Given the description of an element on the screen output the (x, y) to click on. 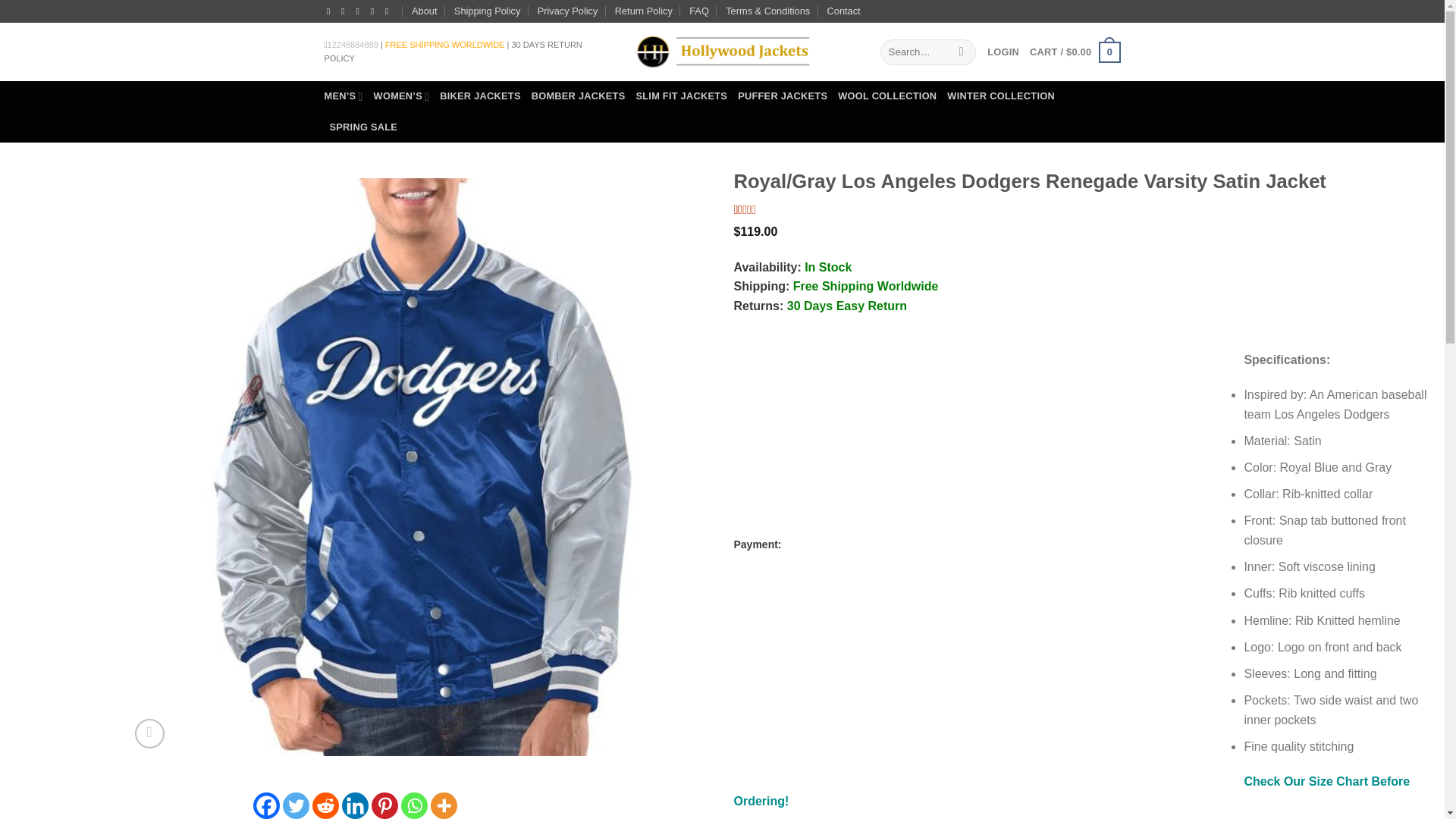
Contact (843, 11)
Zoom (149, 733)
LOGIN (1003, 51)
Search (961, 52)
Shipping Policy (487, 11)
About (424, 11)
Return Policy (643, 11)
Cart (1074, 52)
Facebook (266, 805)
